Given the description of an element on the screen output the (x, y) to click on. 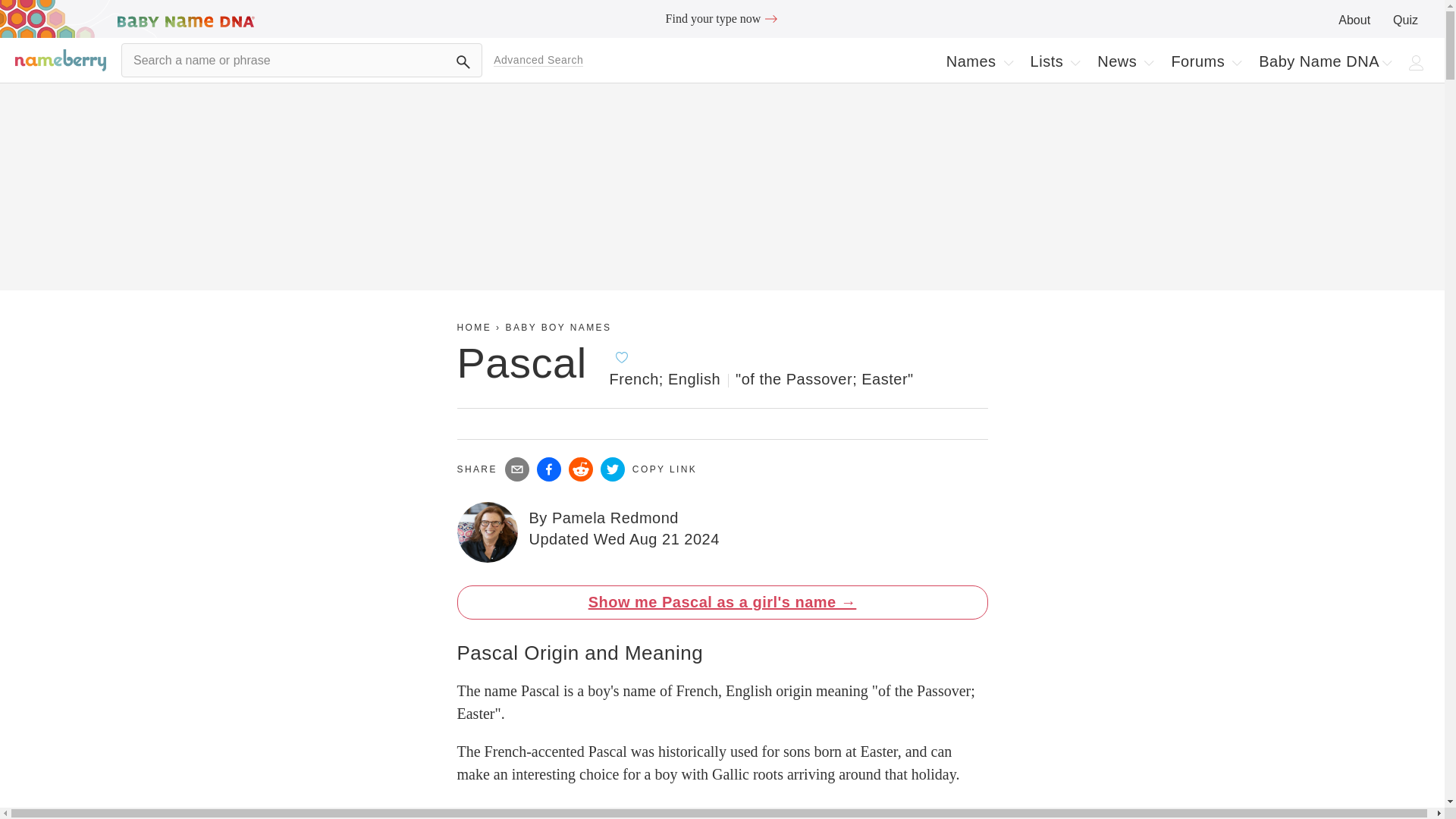
About (979, 61)
Chevron - Down (1354, 19)
Chevron - Down (1075, 62)
Quiz (1386, 62)
Chevron - Down (1055, 61)
Search (721, 18)
Chevron - Down (1405, 19)
